Given the description of an element on the screen output the (x, y) to click on. 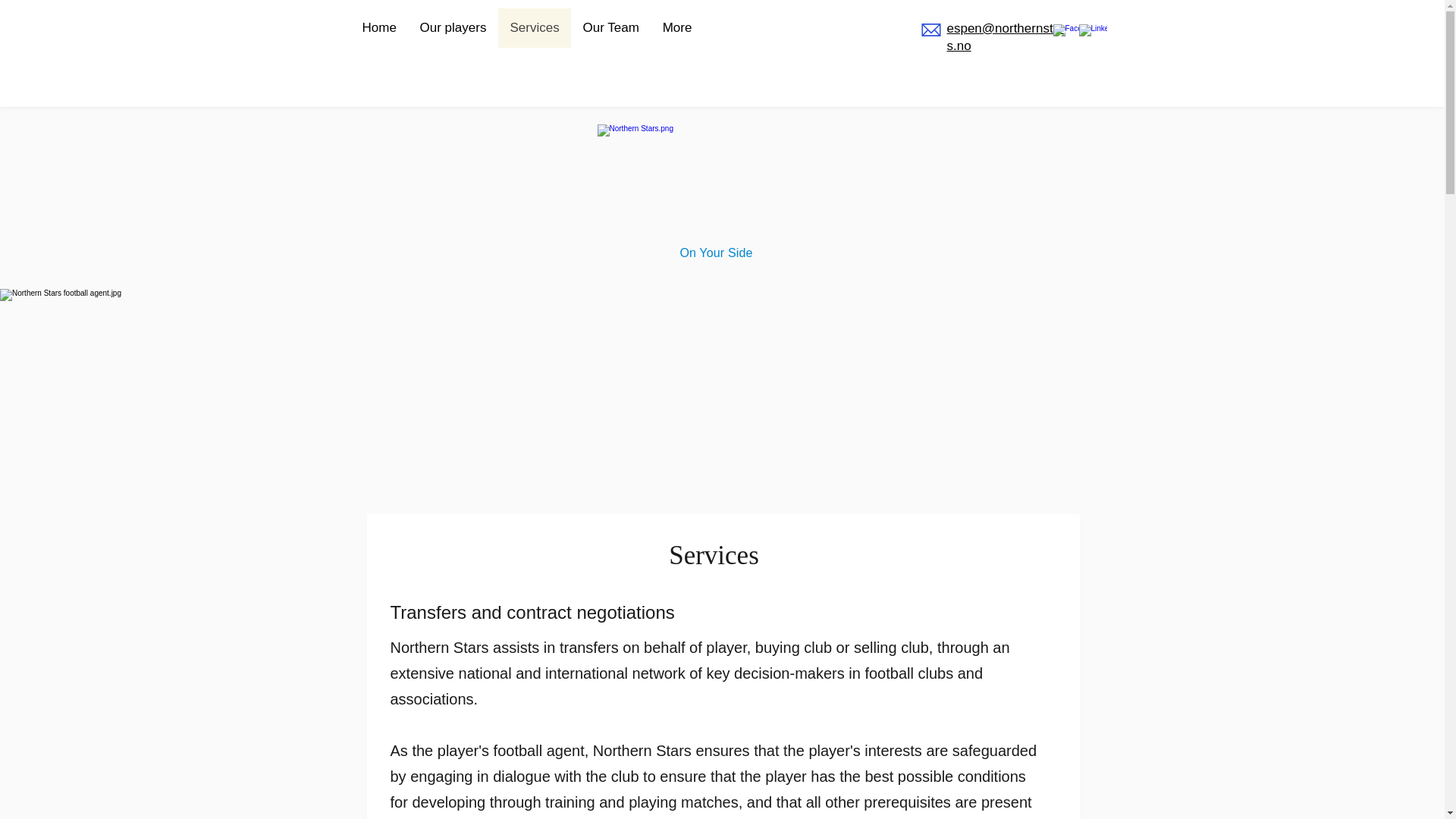
Our Team (609, 27)
Our players (452, 27)
Home (378, 27)
Services (533, 27)
